Given the description of an element on the screen output the (x, y) to click on. 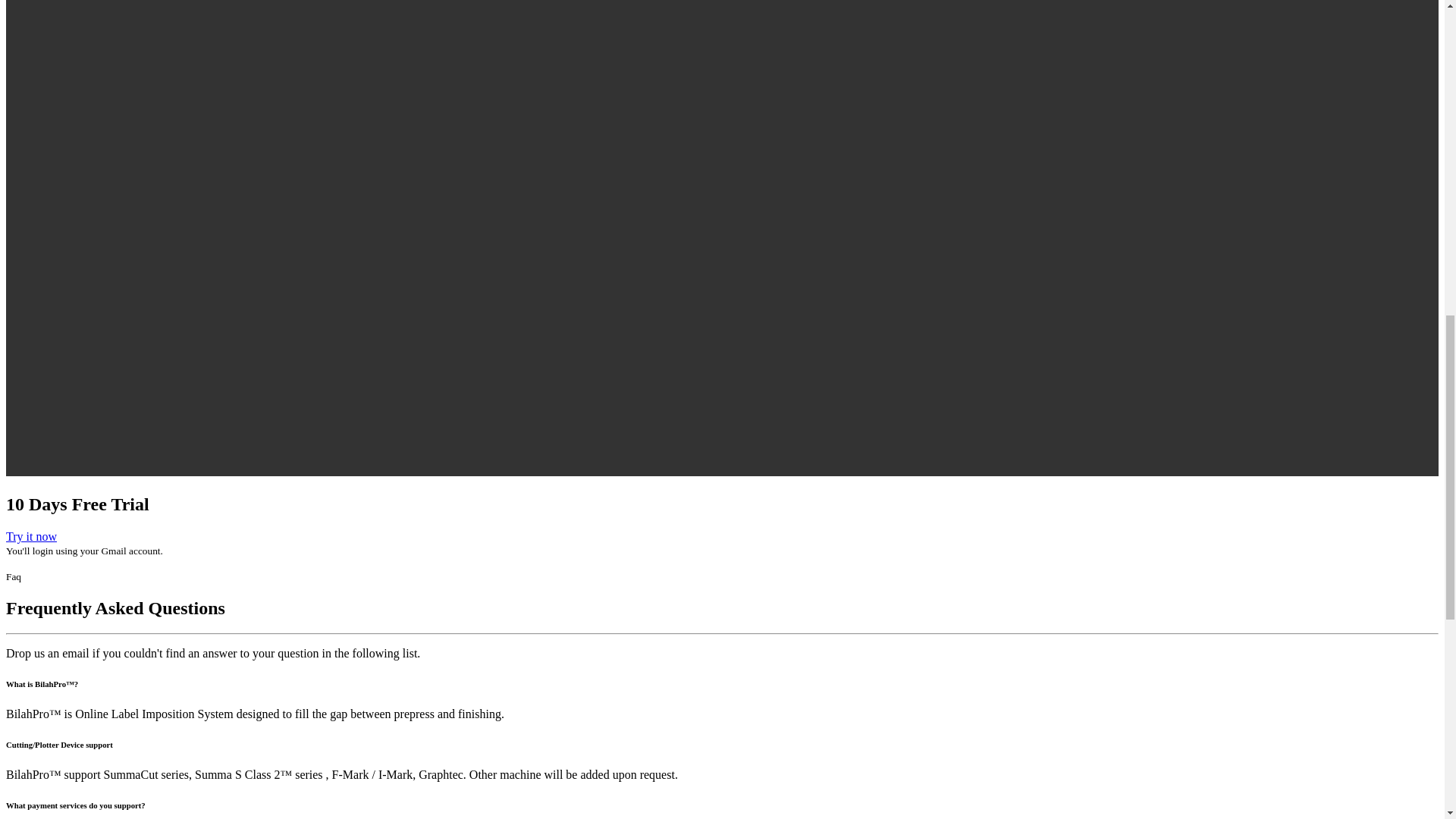
Try it now (30, 535)
